Given the description of an element on the screen output the (x, y) to click on. 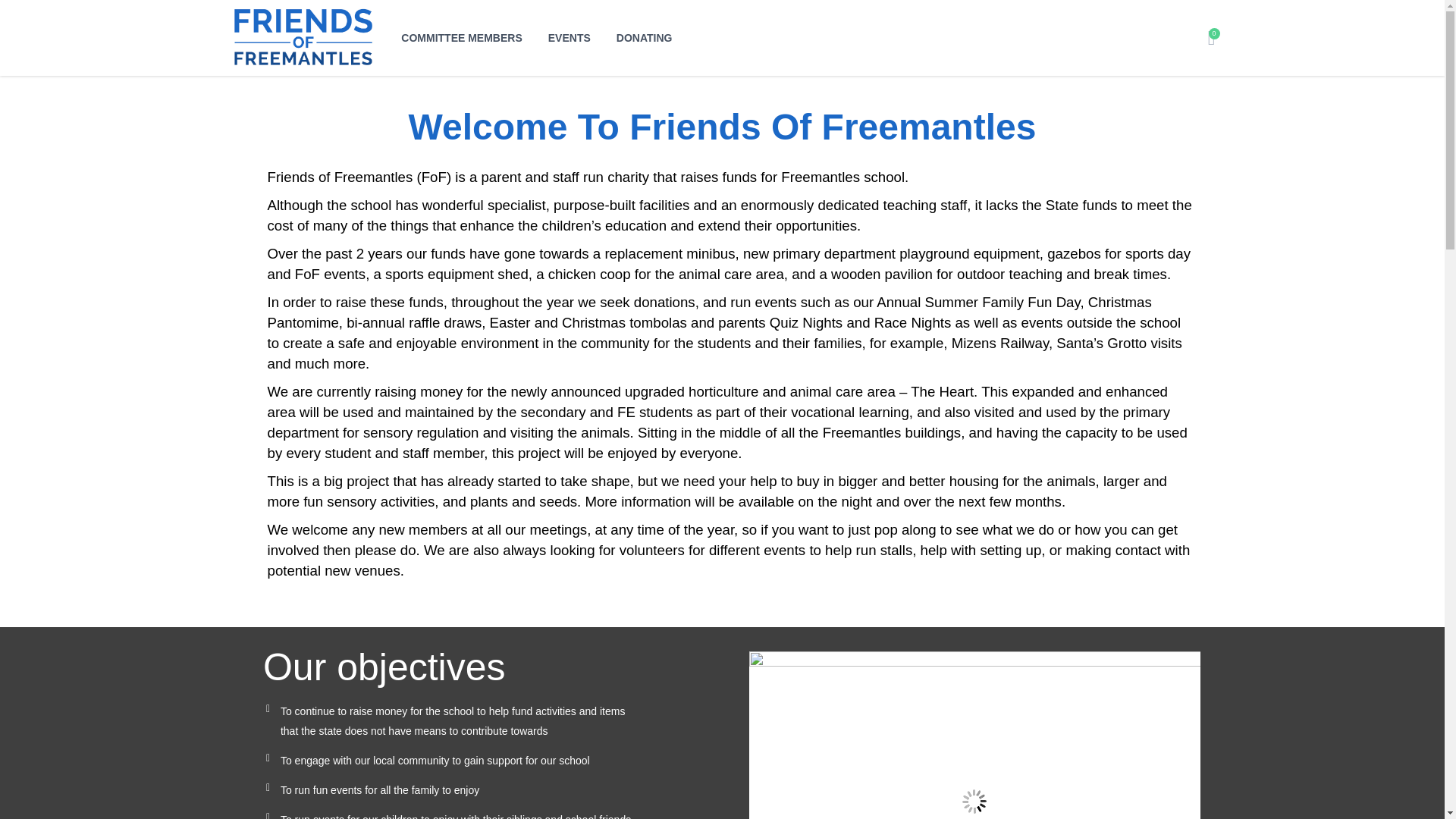
EVENTS (569, 38)
COMMITTEE MEMBERS (461, 38)
0 (1211, 37)
DONATING (644, 38)
